Given the description of an element on the screen output the (x, y) to click on. 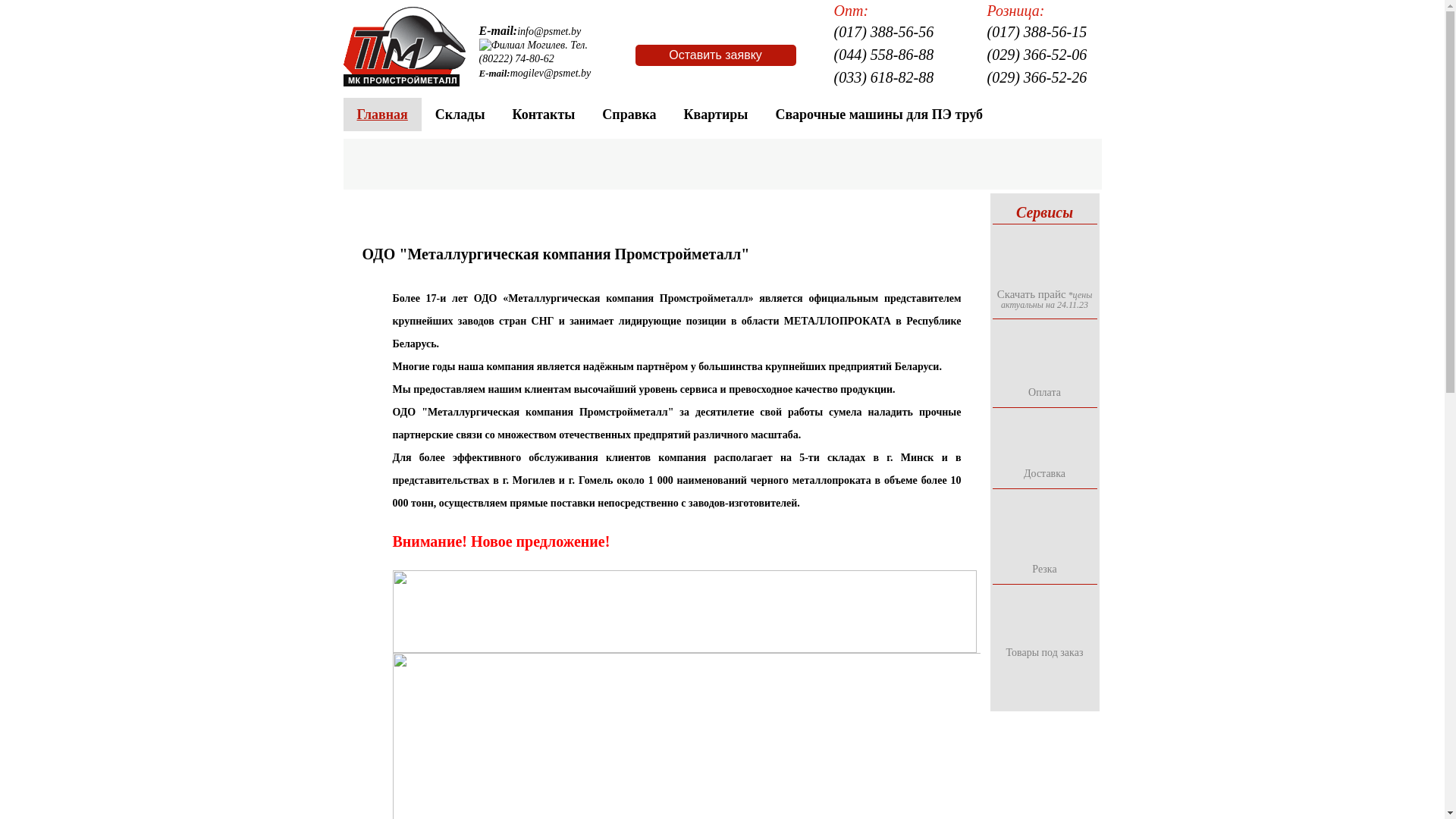
mogilev@psmet.by Element type: text (550, 72)
info@psmet.by Element type: text (548, 31)
